Given the description of an element on the screen output the (x, y) to click on. 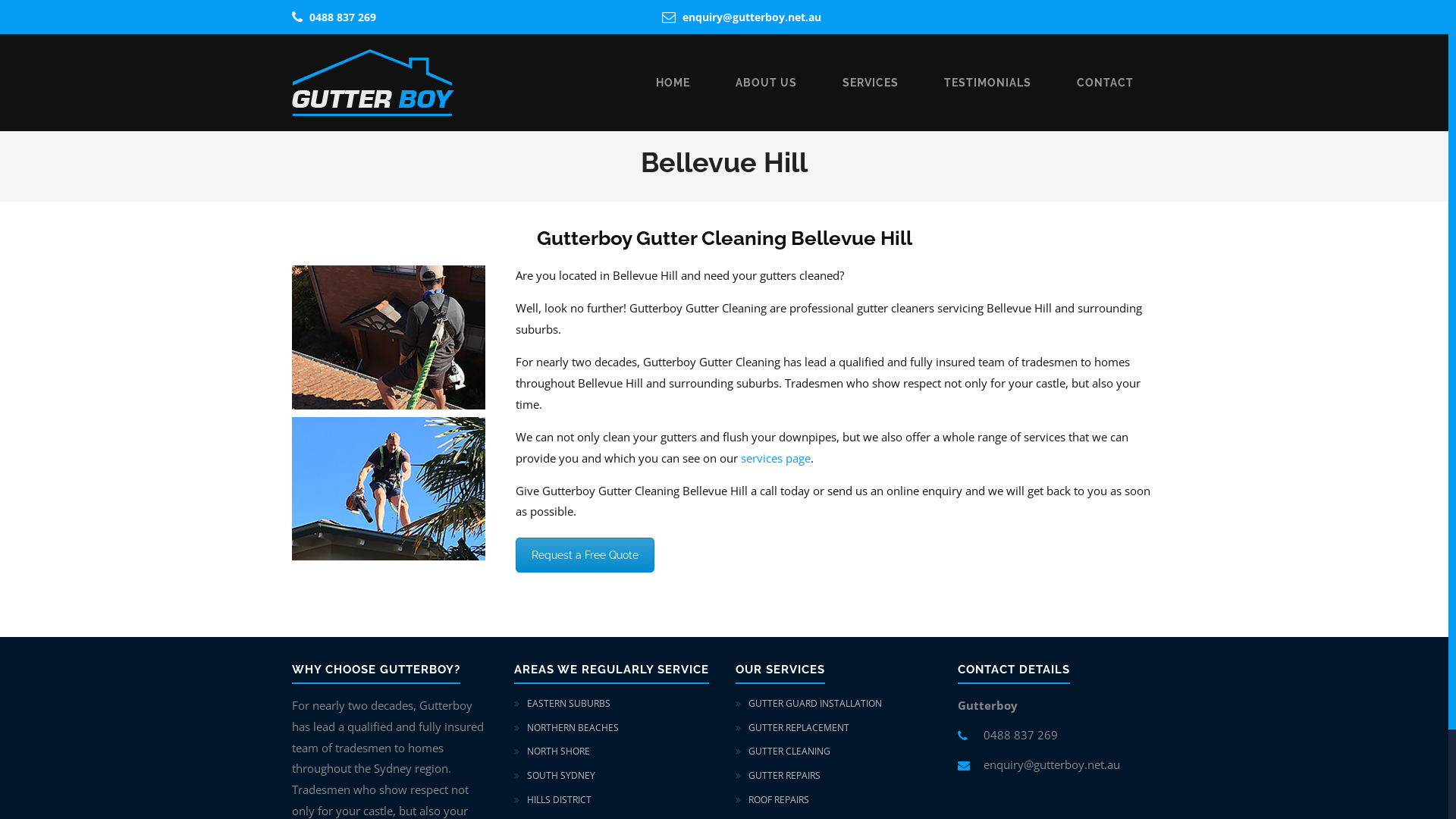
SERVICES Element type: text (870, 82)
GUTTER GUARD INSTALLATION Element type: text (814, 702)
HILLS DISTRICT Element type: text (558, 799)
TESTIMONIALS Element type: text (987, 82)
ROOF REPAIRS Element type: text (778, 799)
0488 837 269 Element type: text (342, 16)
GUTTER CLEANING Element type: text (789, 750)
NORTHERN BEACHES Element type: text (572, 727)
EASTERN SUBURBS Element type: text (567, 702)
ABOUT US Element type: text (766, 82)
GUTTER REPAIRS Element type: text (784, 774)
CONTACT Element type: text (1104, 82)
services page Element type: text (775, 458)
HOME Element type: text (672, 82)
NORTH SHORE Element type: text (557, 750)
Request a Free Quote Element type: text (584, 554)
SOUTH SYDNEY Element type: text (560, 774)
GUTTER REPLACEMENT Element type: text (798, 727)
